Given the description of an element on the screen output the (x, y) to click on. 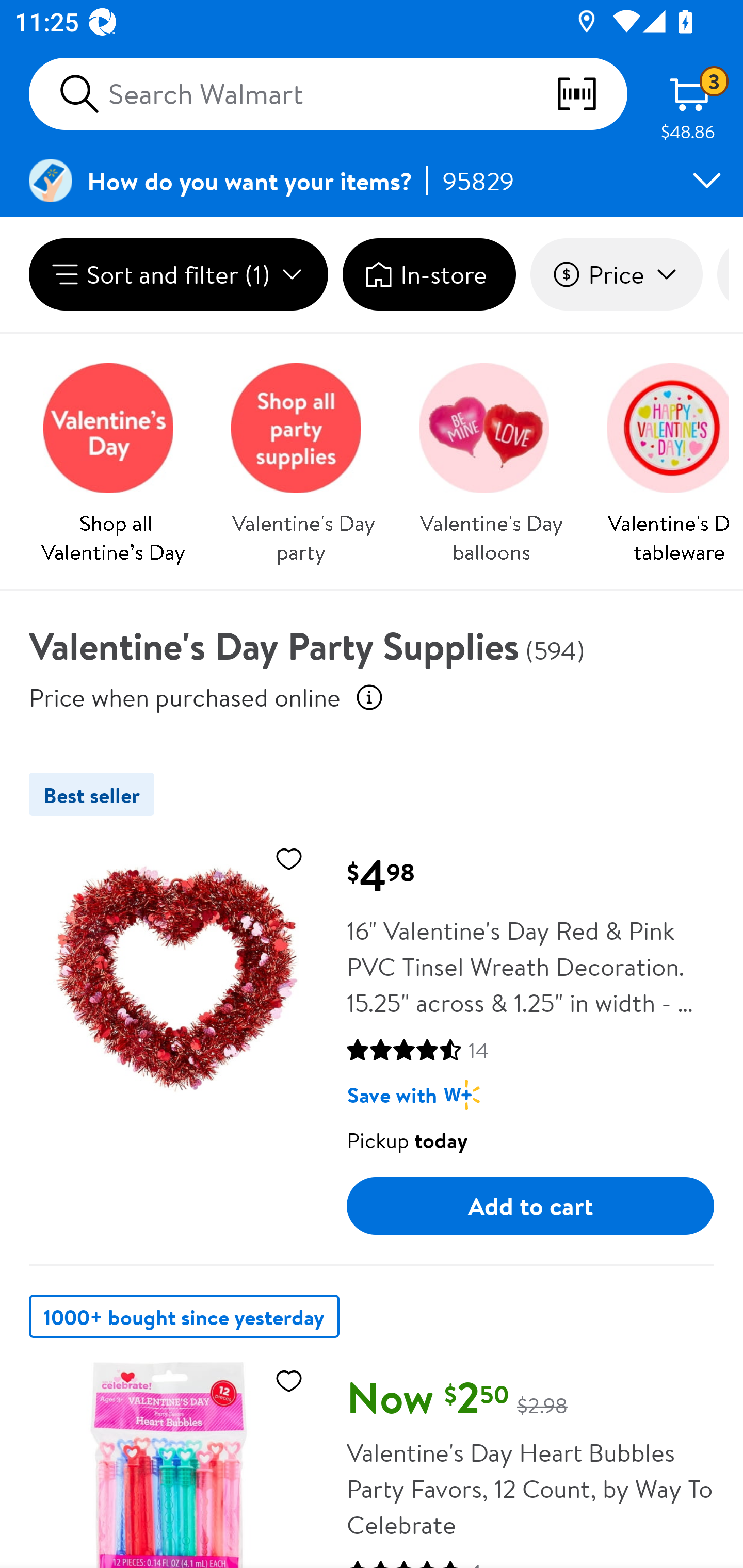
Search Walmart scan barcodes qr codes and more (327, 94)
scan barcodes qr codes and more (591, 94)
Filter by In-store, applied,  Filter icon In-store (428, 274)
Price when purchased online (184, 696)
Price when purchased online (369, 697)
Add to cart (530, 1206)
